Given the description of an element on the screen output the (x, y) to click on. 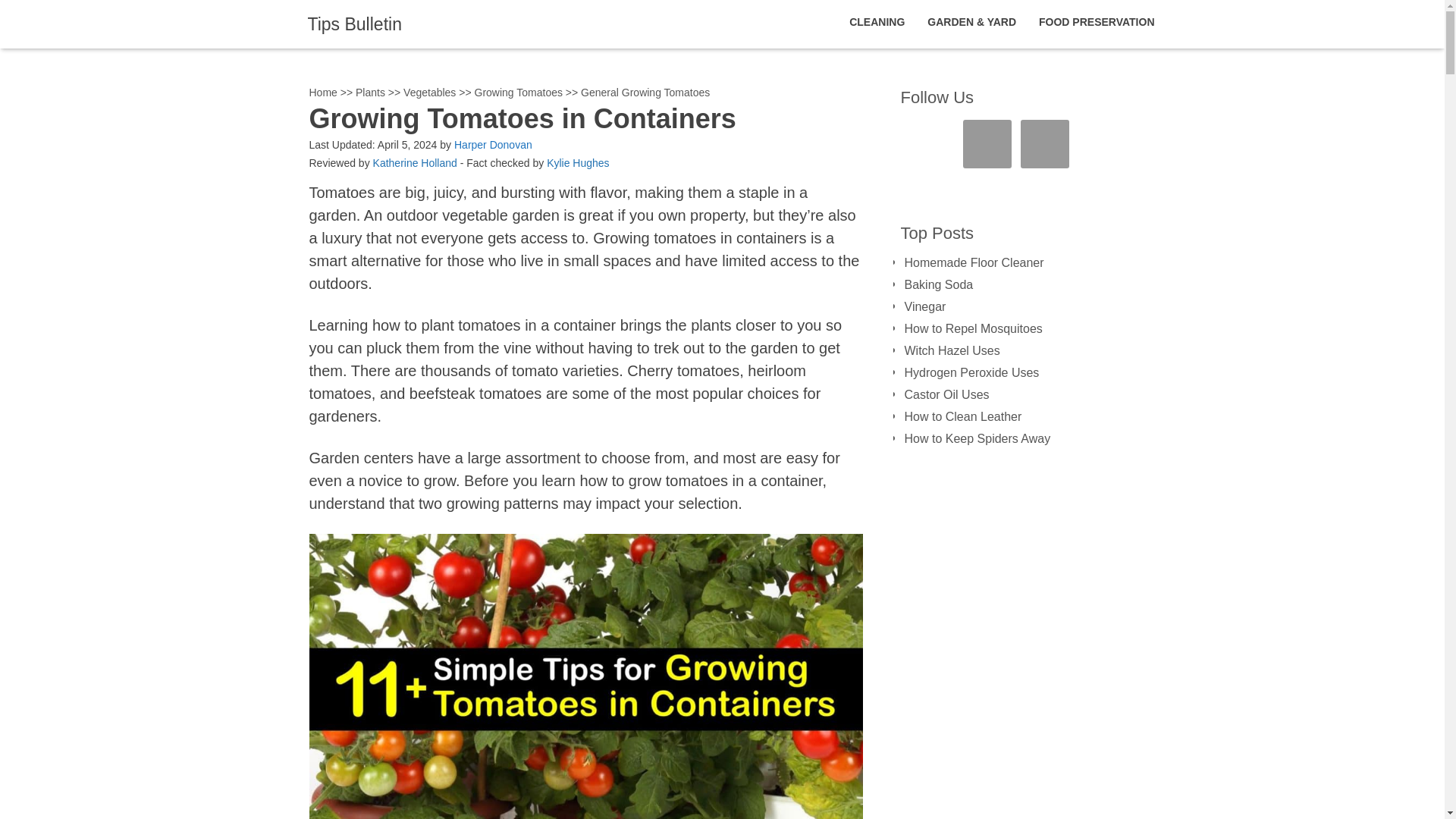
General Growing Tomatoes (645, 92)
Harper Donovan (493, 144)
Plants (370, 92)
Homemade Floor Cleaner (973, 262)
Katherine Holland (414, 162)
FOOD PRESERVATION (1096, 22)
Growing Tomatoes (518, 92)
Vegetables (429, 92)
Tips Bulletin (354, 24)
Baking Soda (938, 284)
Vinegar (924, 306)
Home (322, 92)
Kylie Hughes (578, 162)
CLEANING (876, 22)
